Given the description of an element on the screen output the (x, y) to click on. 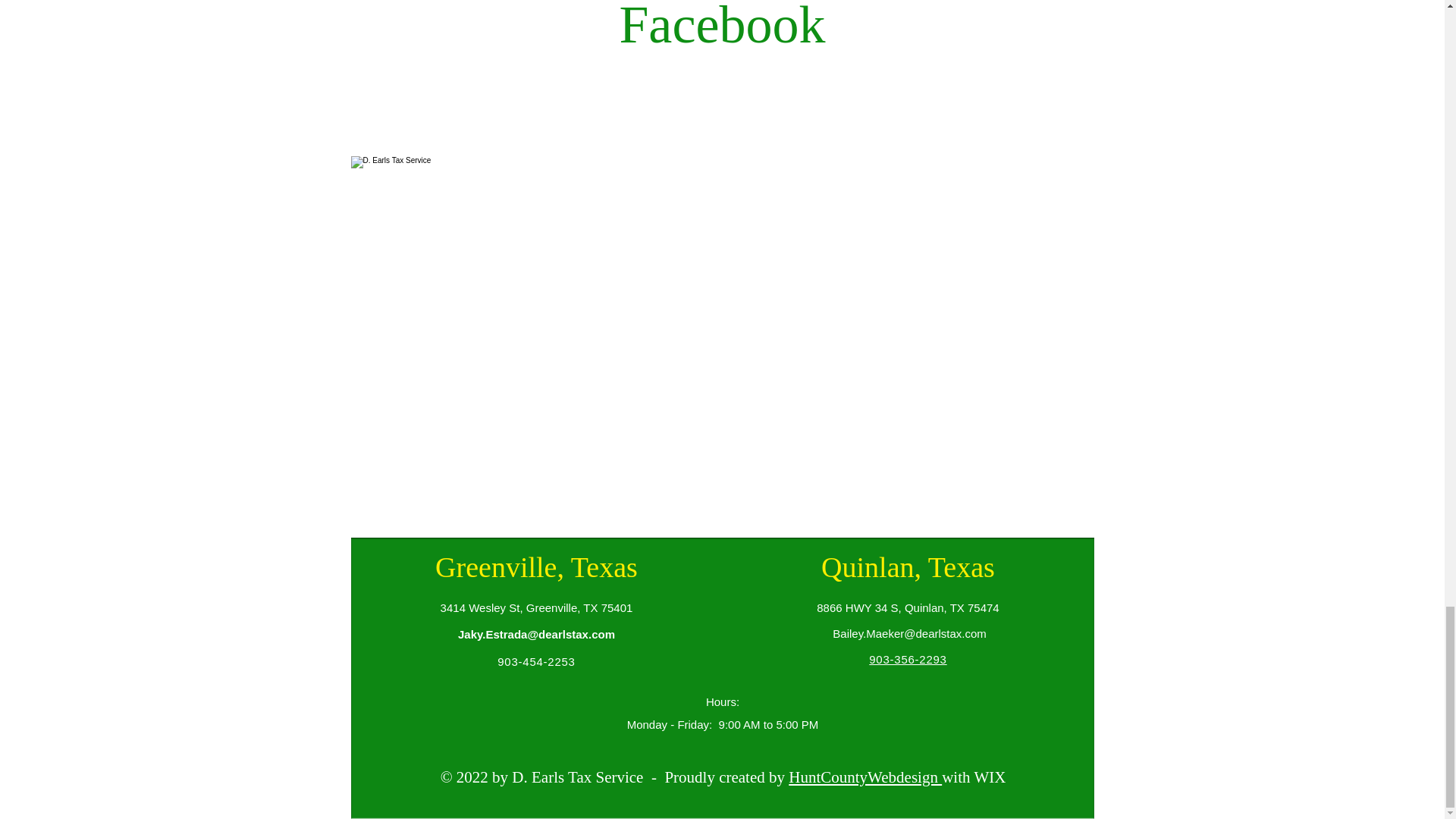
903-454-2253 (536, 661)
903-356-2293 (907, 658)
